Given the description of an element on the screen output the (x, y) to click on. 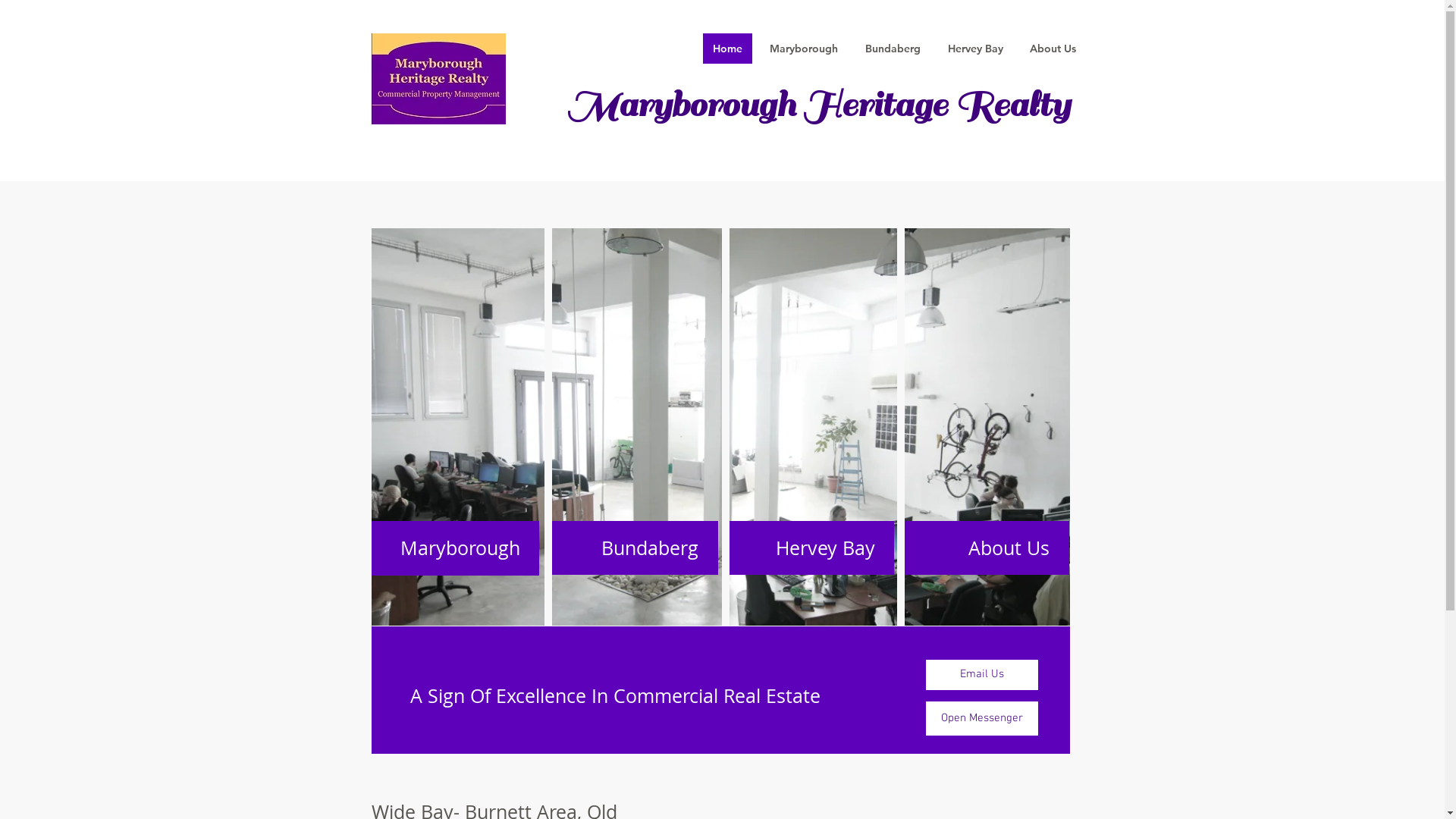
Maryborough  Element type: text (685, 104)
Email Us Element type: text (981, 674)
About Us Element type: text (1052, 48)
Hervey Bay Element type: text (810, 547)
Home Element type: text (726, 48)
Maryborough Element type: text (803, 48)
Bundaberg Element type: text (892, 48)
Hervey Bay Element type: text (974, 48)
About Us Element type: text (984, 547)
Open Messenger Element type: text (981, 718)
Maryborough Element type: text (455, 547)
Bundaberg Element type: text (632, 547)
